Given the description of an element on the screen output the (x, y) to click on. 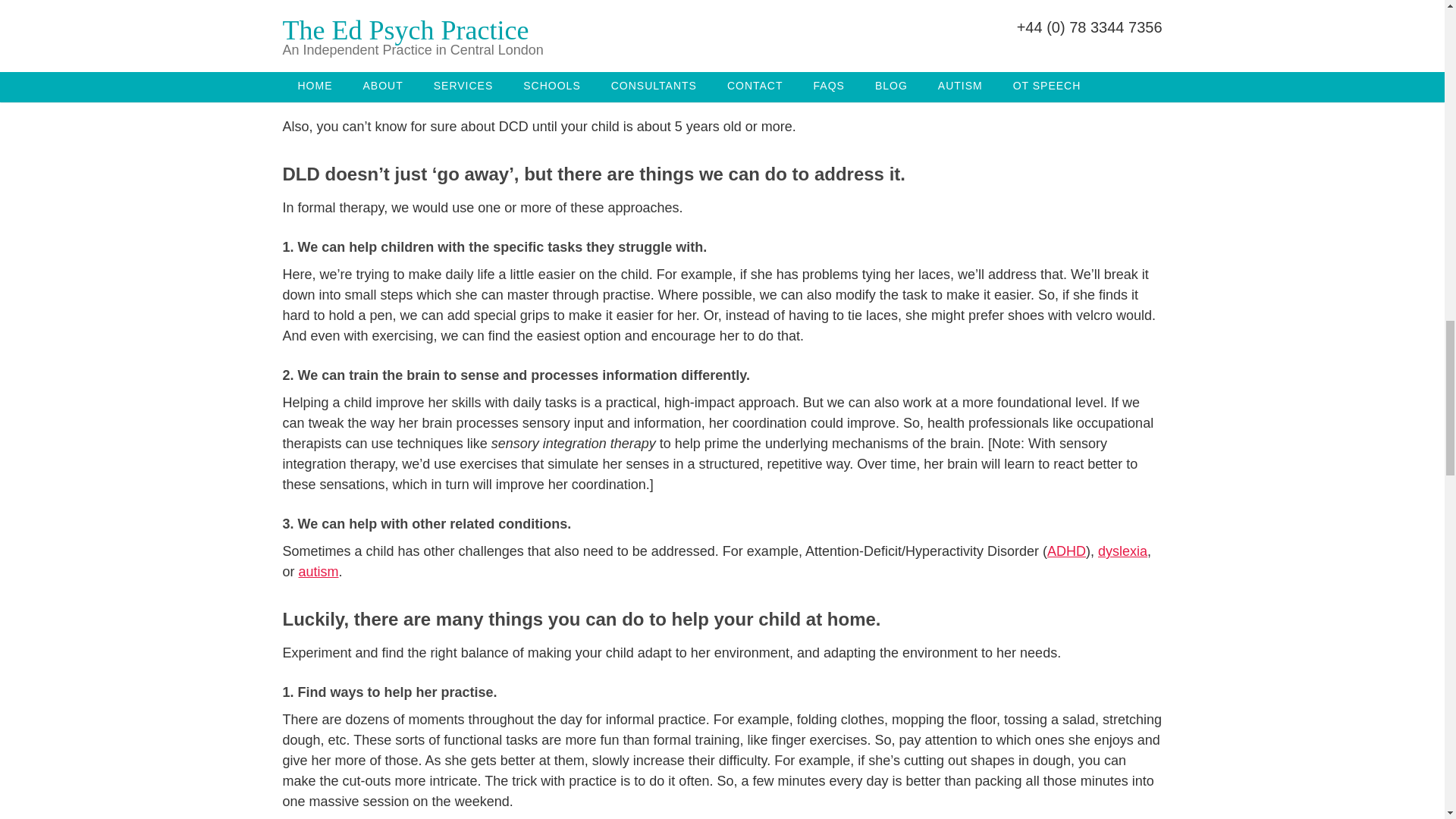
dyslexia (1122, 550)
ADHD (1066, 550)
autism (318, 571)
